Given the description of an element on the screen output the (x, y) to click on. 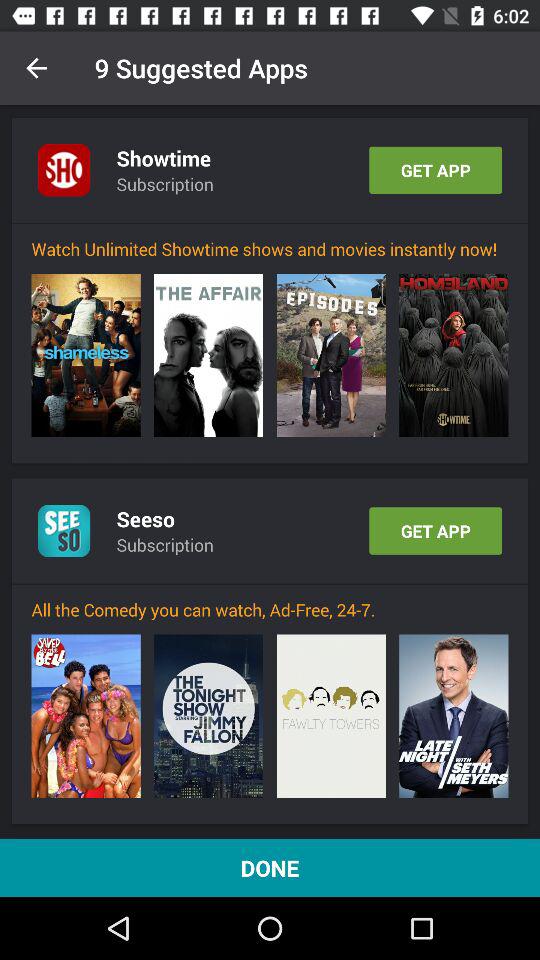
launch the icon below the all the comedy (208, 716)
